Given the description of an element on the screen output the (x, y) to click on. 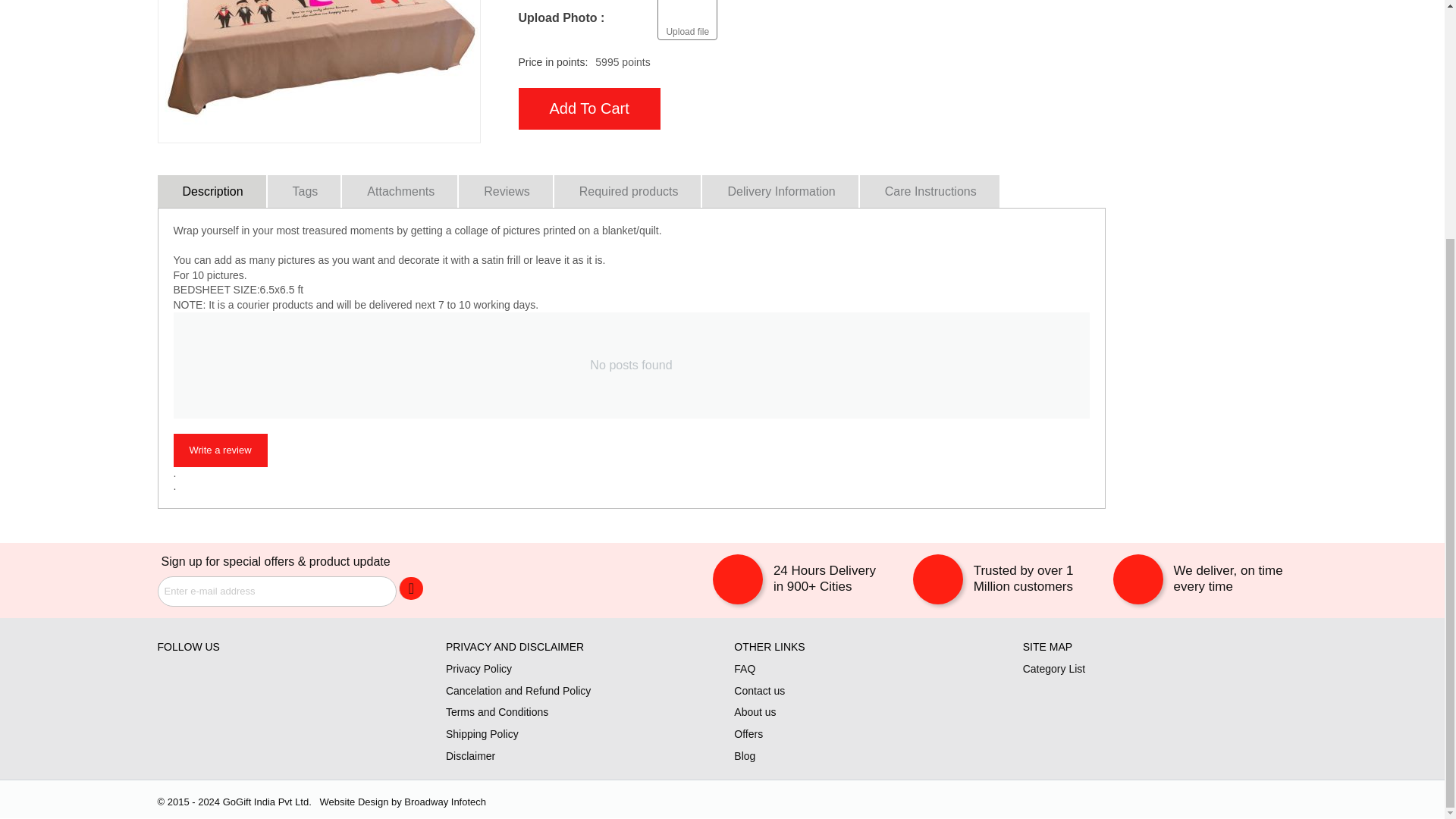
Enter e-mail address (276, 591)
Go (410, 588)
Write a review (219, 450)
